Given the description of an element on the screen output the (x, y) to click on. 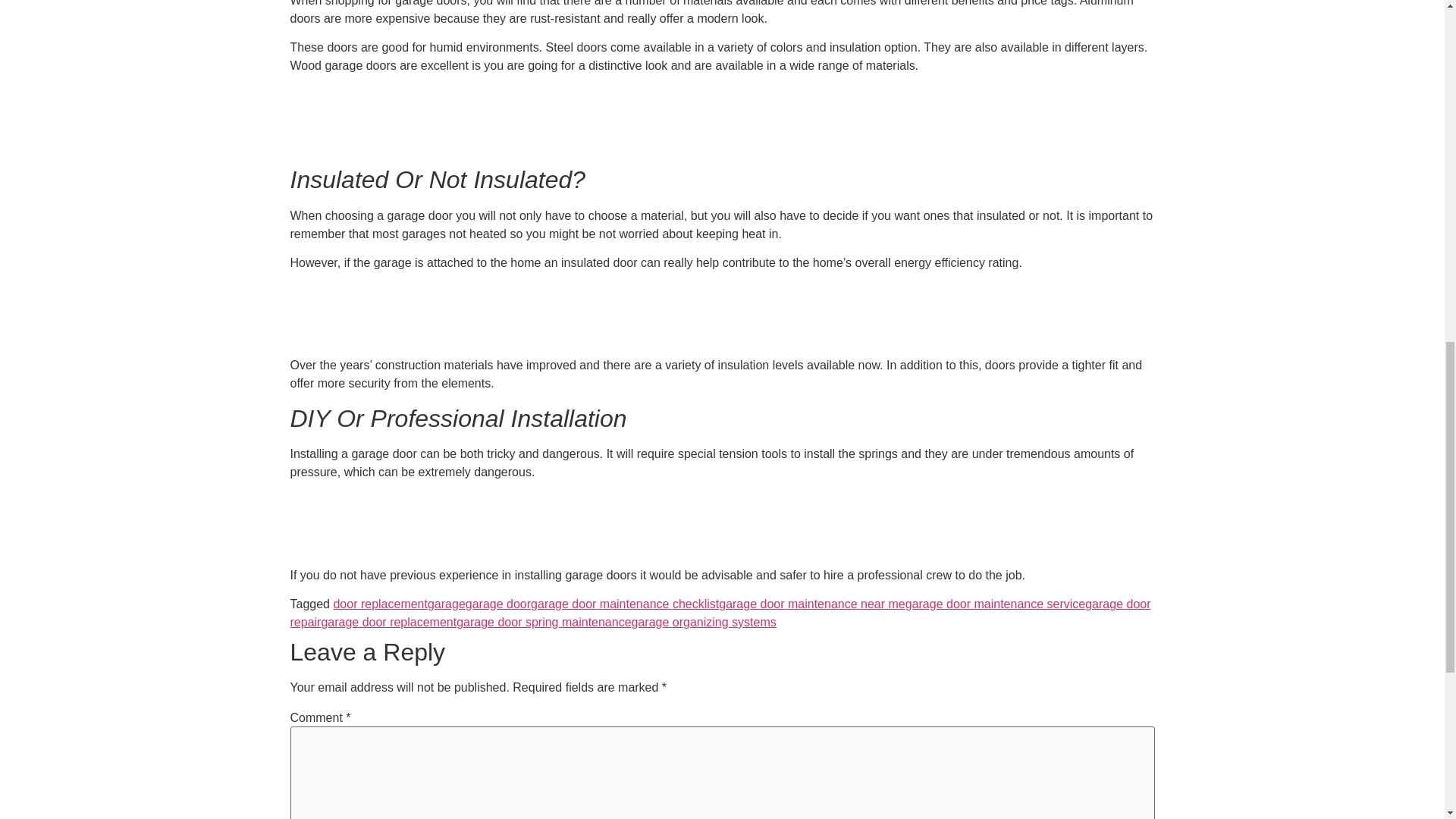
Advertisement (721, 119)
Advertisement (721, 316)
garage organizing systems (703, 621)
garage door (498, 603)
garage door repair (719, 612)
garage door replacement (388, 621)
garage door maintenance near me (812, 603)
garage door spring maintenance (543, 621)
garage door maintenance checklist (625, 603)
garage door maintenance service (994, 603)
